Given the description of an element on the screen output the (x, y) to click on. 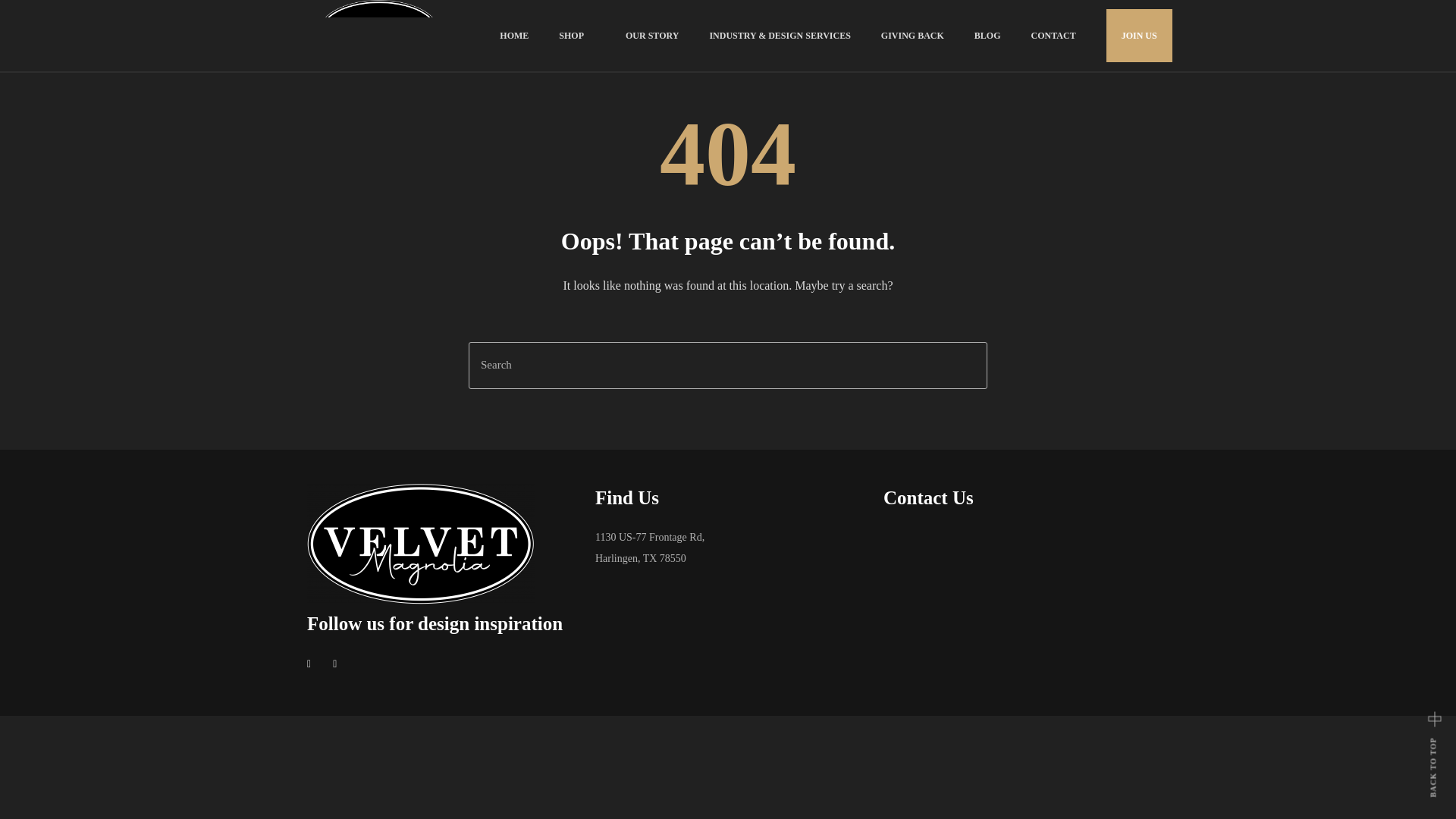
CONTACT (1052, 35)
Search (727, 365)
Facebook (312, 664)
Instagram (339, 664)
OUR STORY (652, 35)
GIVING BACK (911, 35)
